Given the description of an element on the screen output the (x, y) to click on. 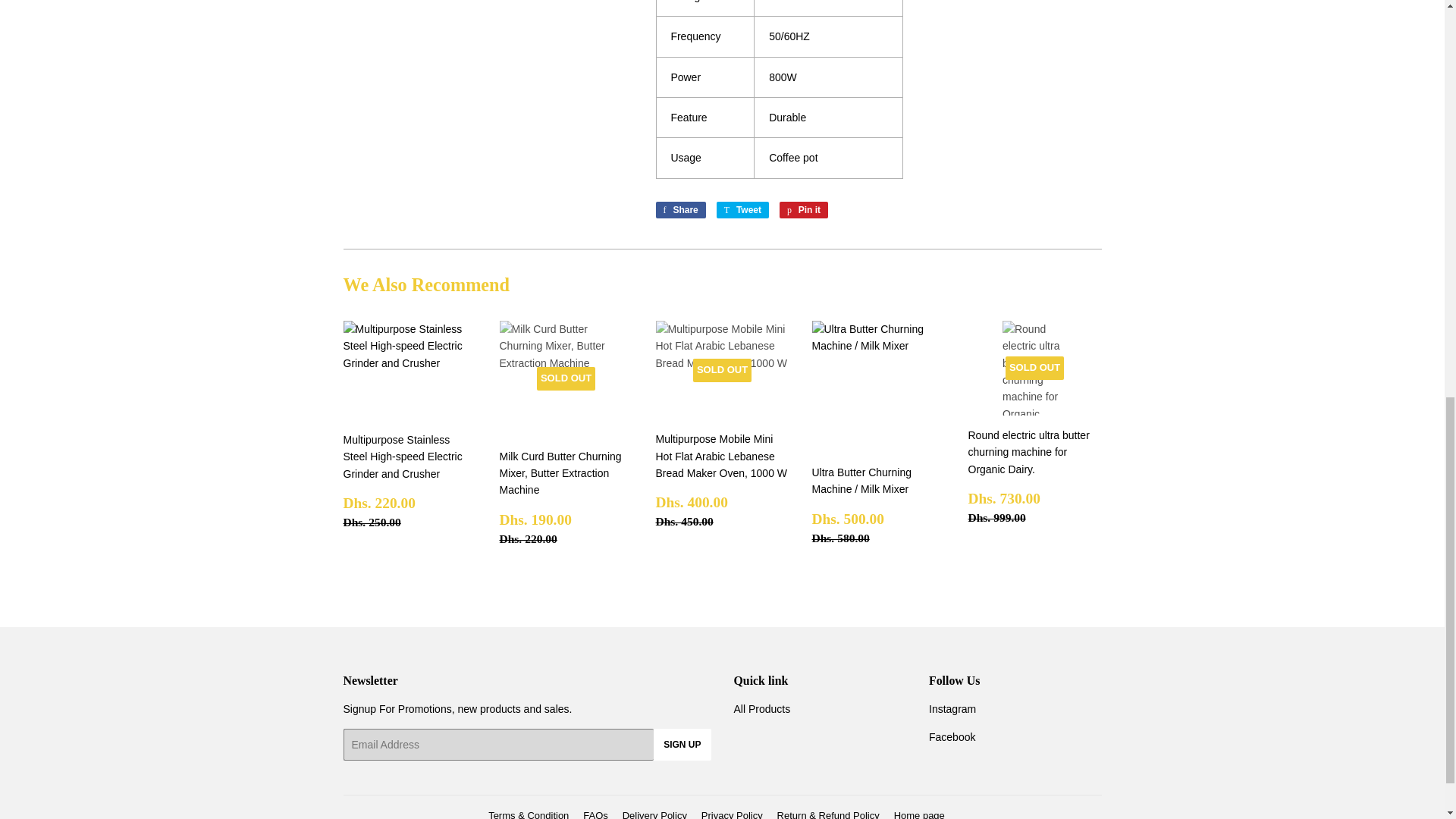
Pin on Pinterest (742, 209)
Share on Facebook (803, 209)
Tweet on Twitter (803, 209)
